Given the description of an element on the screen output the (x, y) to click on. 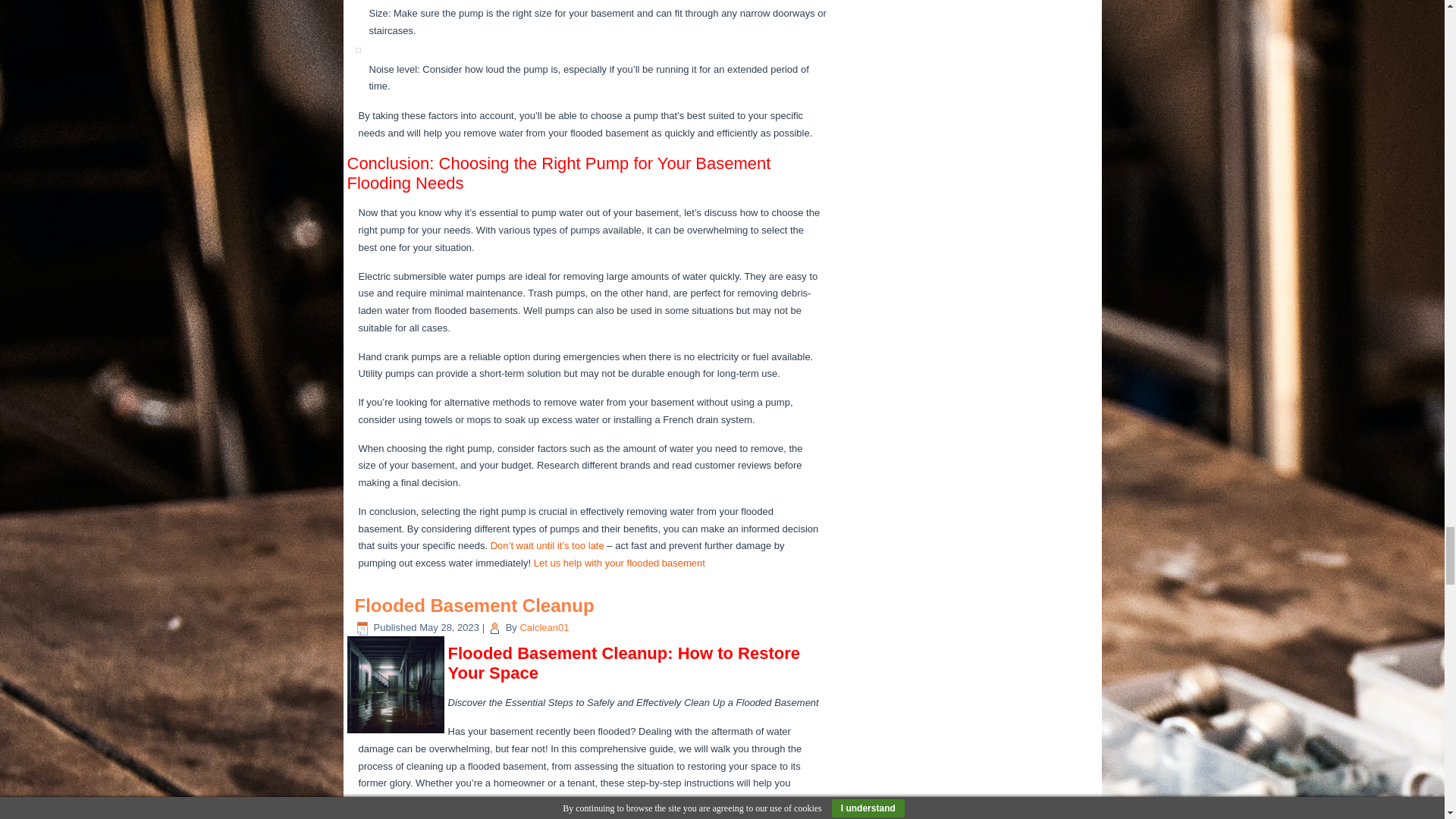
Let us help with your flooded basement (619, 562)
Flooded Basement Cleanup (474, 605)
Flooded Basement Cleanup (397, 733)
View all posts by Calclean01 (544, 627)
4:34 am (449, 627)
Calclean01 (544, 627)
Flooded Basement Cleanup (395, 684)
Flooded Basement Cleanup (474, 605)
